Given the description of an element on the screen output the (x, y) to click on. 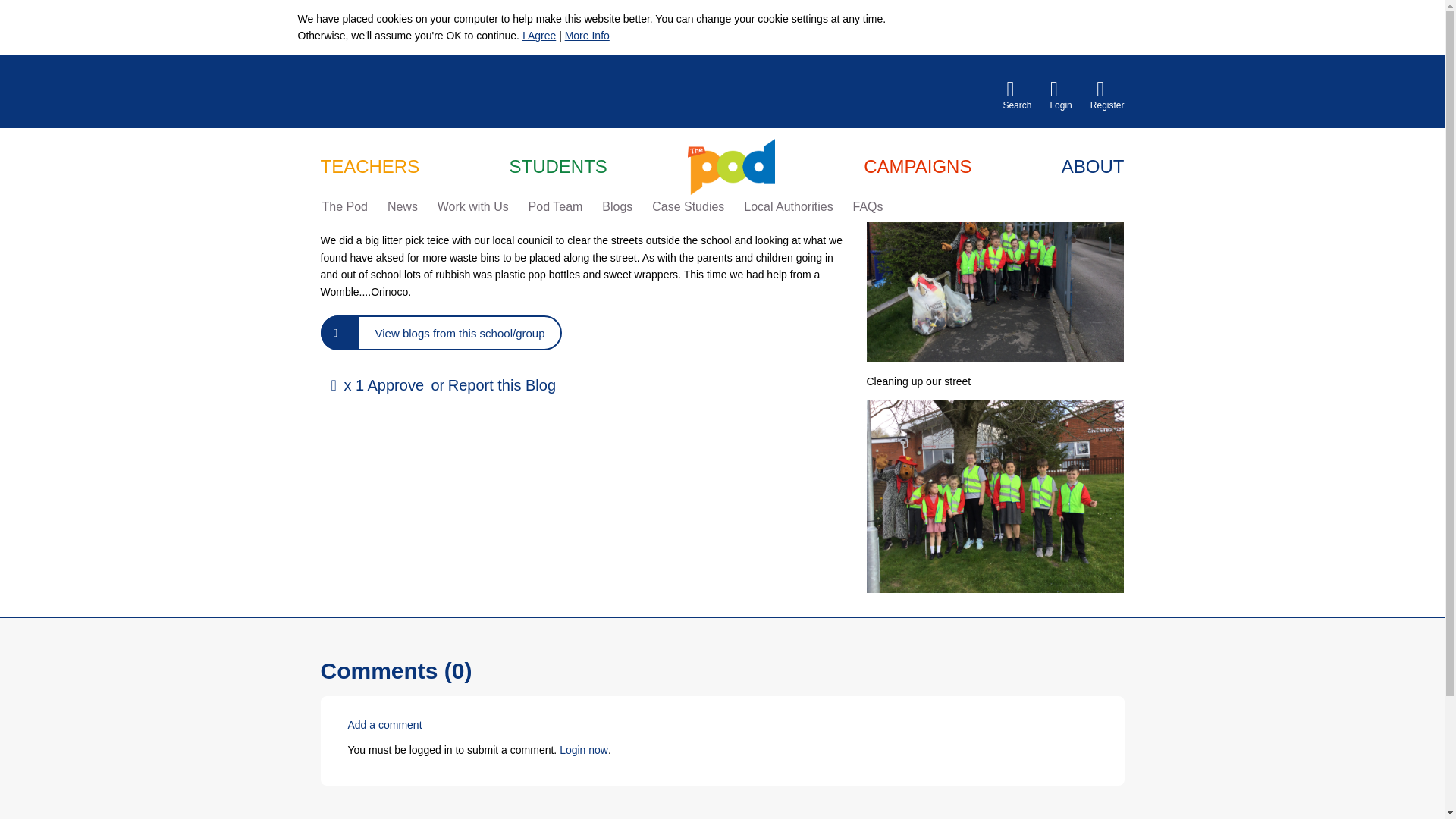
Local Authorities (788, 206)
The Pod (344, 206)
TEACHERS (369, 167)
CAMPAIGNS (917, 167)
ABOUT (1092, 167)
Work with Us (473, 206)
STUDENTS (558, 167)
Blogs (616, 206)
FAQs (868, 206)
I Agree (539, 35)
x 1 Approve (375, 384)
Login now (583, 749)
More Info (587, 35)
Report this Blog (502, 384)
Pod Team (556, 206)
